Given the description of an element on the screen output the (x, y) to click on. 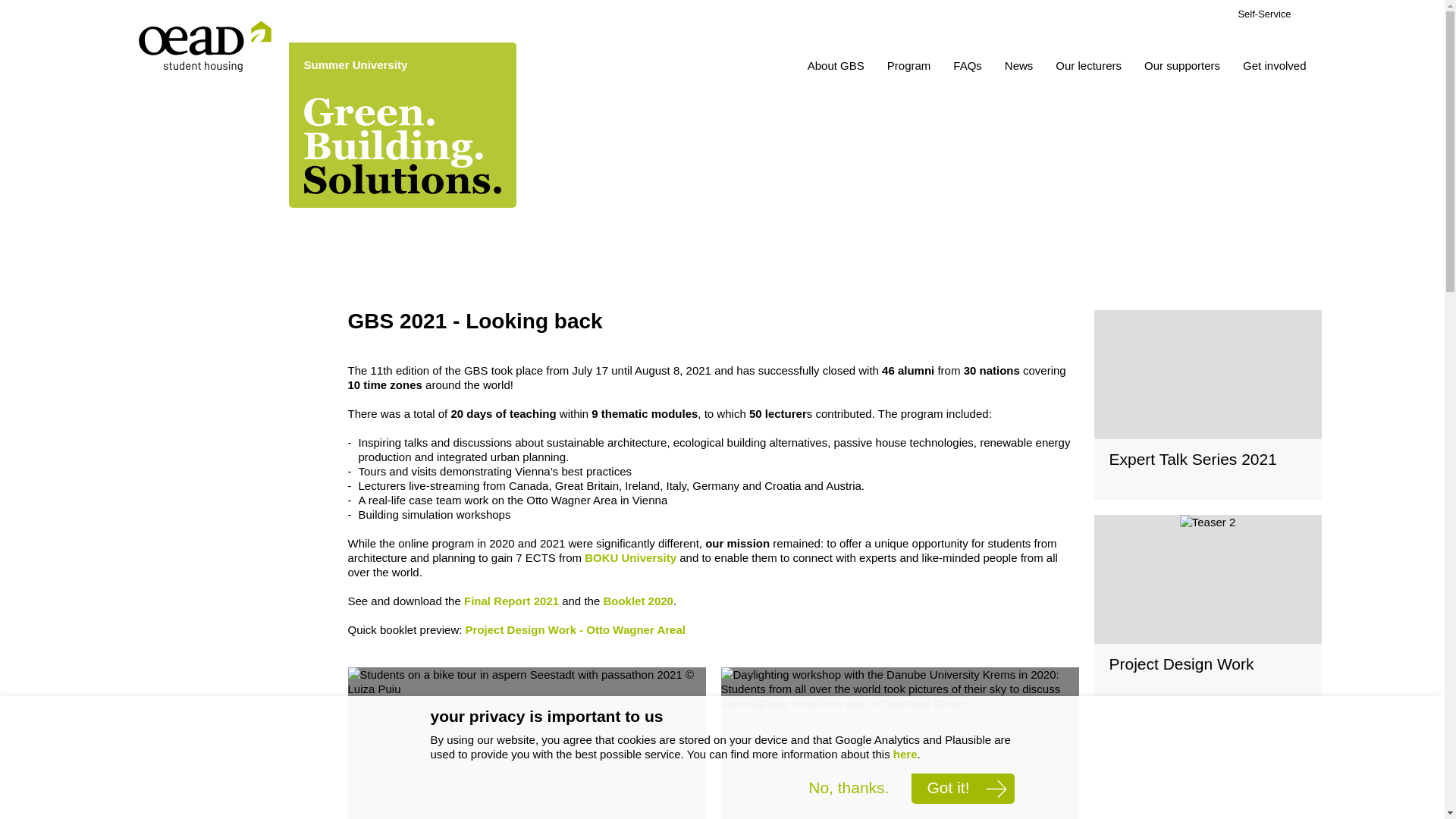
About GBS (836, 67)
BOKU University (631, 557)
go to homepage (204, 46)
FAQs (967, 67)
Our supporters (1182, 67)
Final Report 2021 (511, 600)
Self-Service (1263, 13)
Our lecturers (1088, 67)
Get involved (1274, 67)
News (1018, 67)
